Given the description of an element on the screen output the (x, y) to click on. 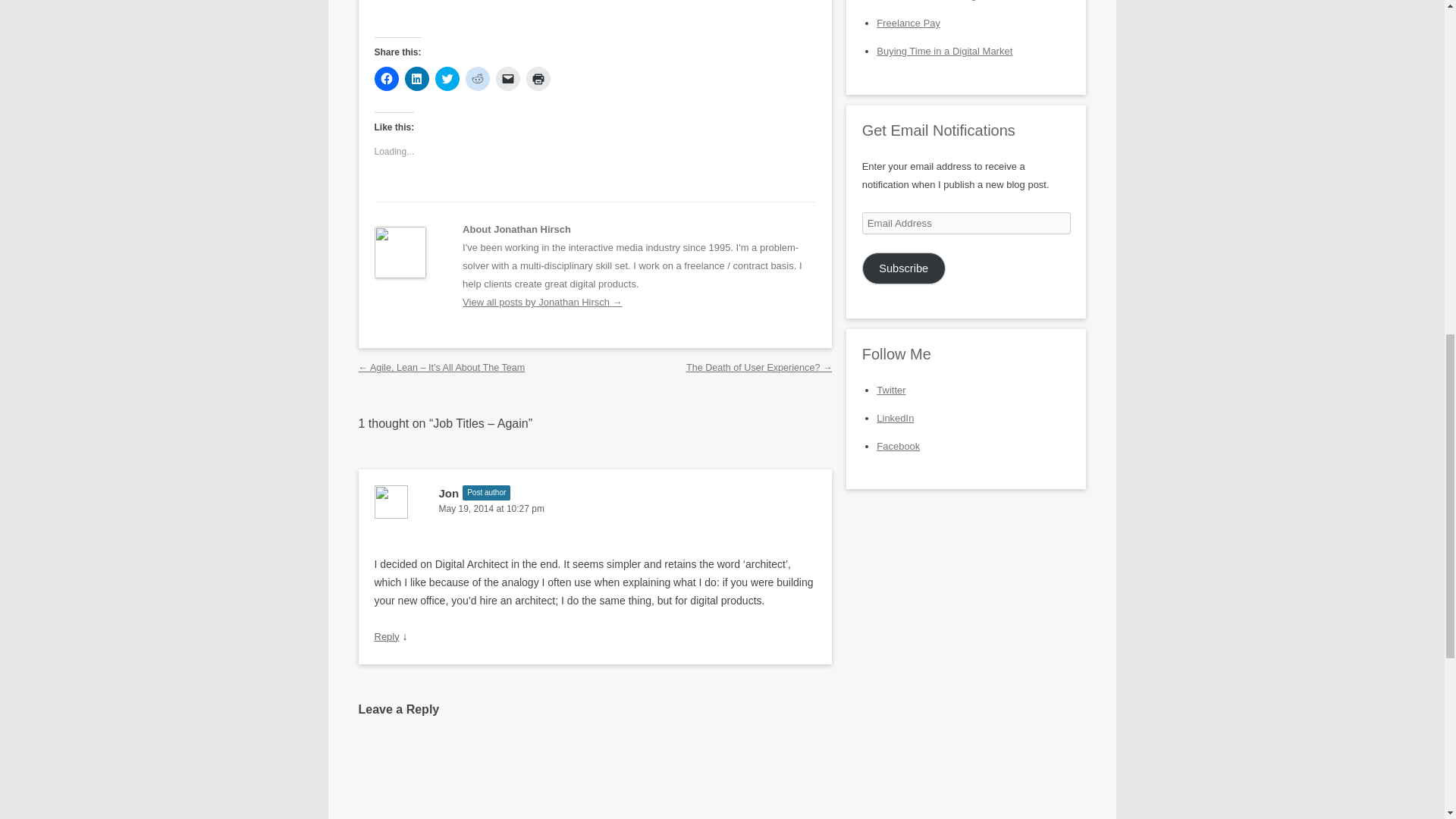
Buying Time in a Digital Market (943, 50)
Twitter (890, 389)
Click to email a link to a friend (507, 78)
Comment Form (594, 778)
Click to print (537, 78)
Freelance Pay (908, 22)
May 19, 2014 at 10:27 pm (595, 508)
Click to share on LinkedIn (416, 78)
Click to share on Reddit (477, 78)
Click to share on Facebook (386, 78)
